Given the description of an element on the screen output the (x, y) to click on. 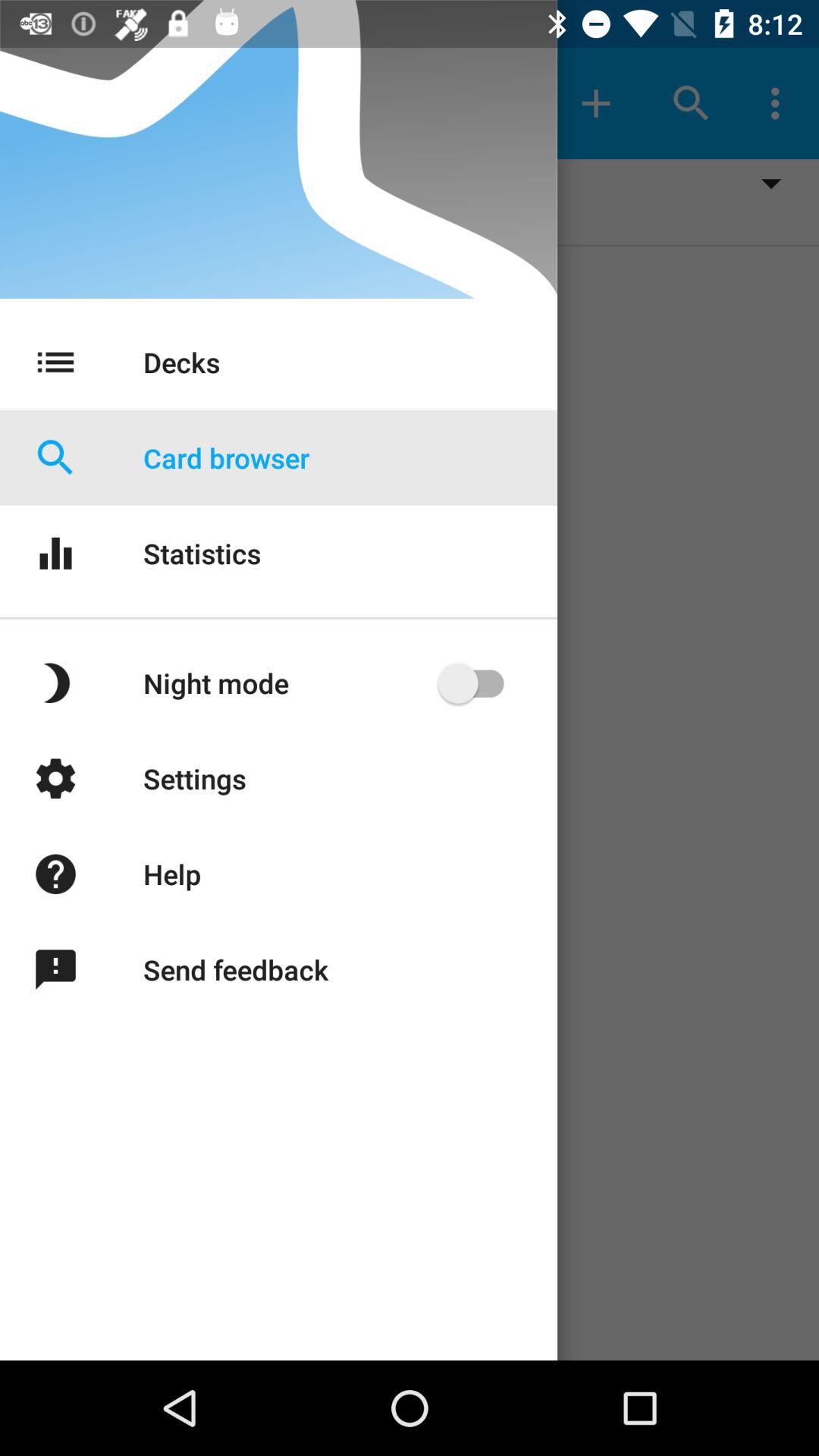
click three dots icon right to search icon in top right of the page (779, 103)
the search icon at top right of the page (691, 103)
